Given the description of an element on the screen output the (x, y) to click on. 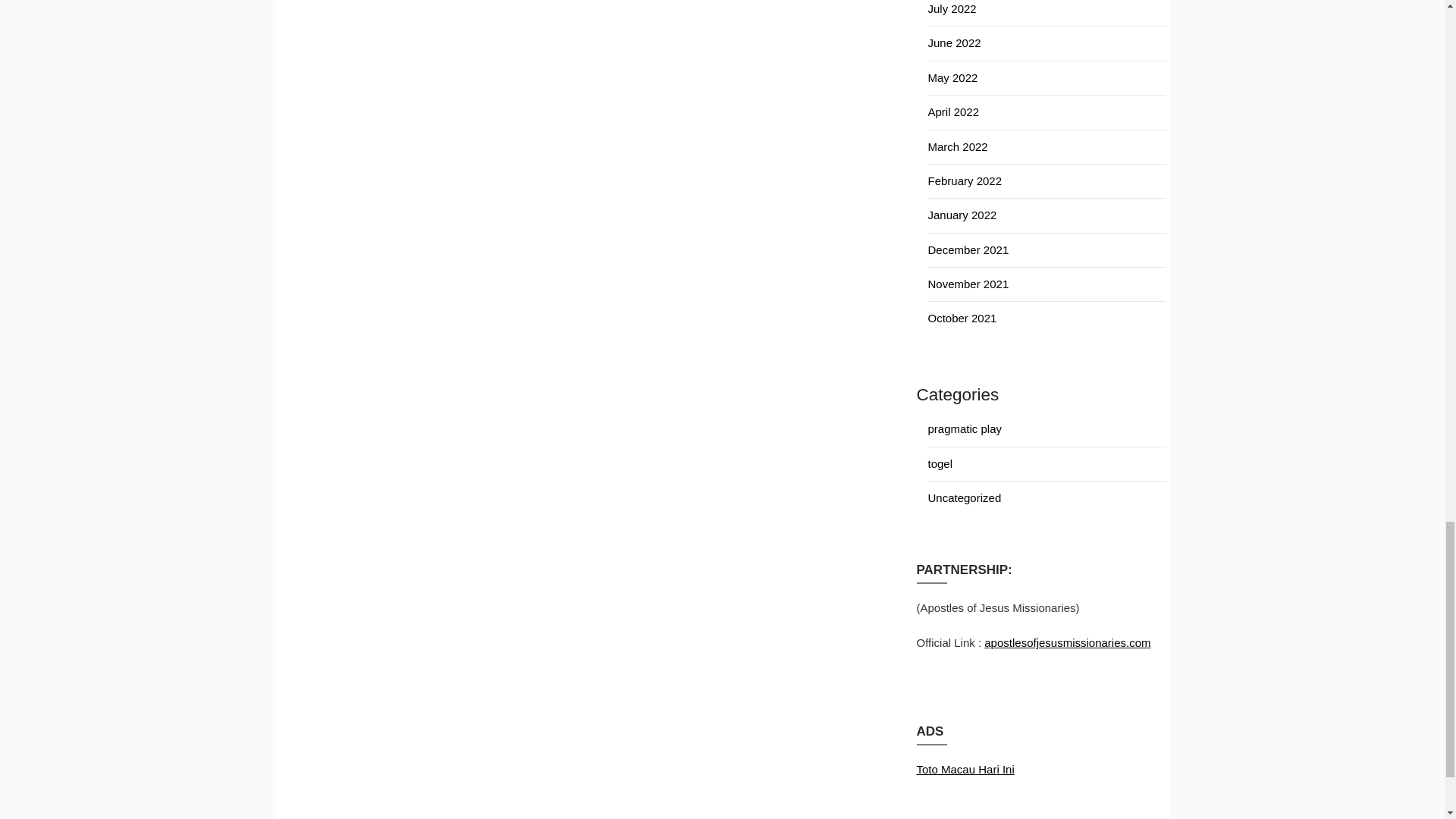
June 2022 (954, 42)
July 2022 (952, 8)
May 2022 (953, 77)
